Given the description of an element on the screen output the (x, y) to click on. 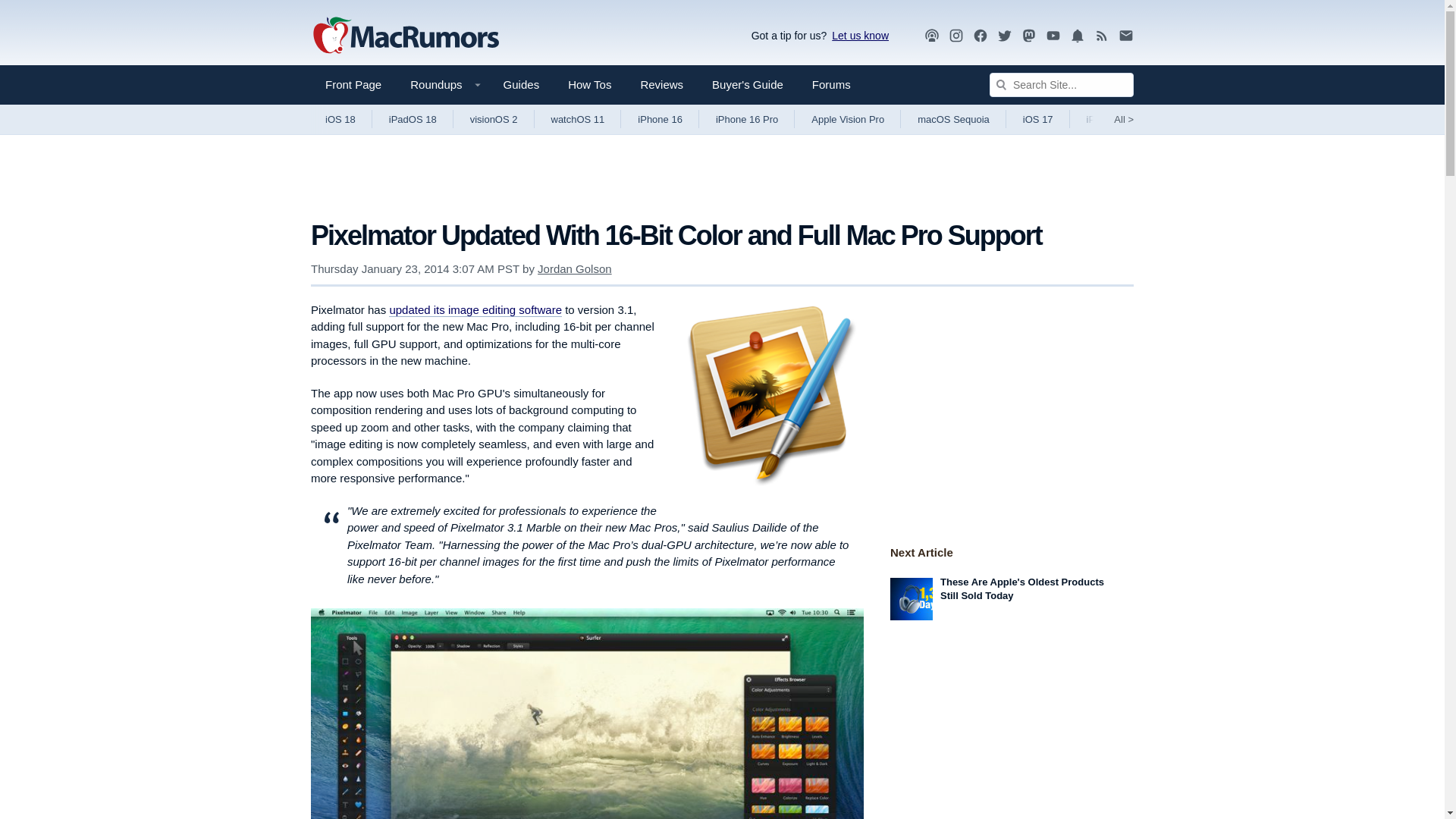
Roundups (441, 84)
Roundups (441, 84)
YouTube (1053, 35)
Instagram (956, 35)
Newsletter (1126, 35)
Instagram (956, 35)
MacRumors Push Notifications (1077, 35)
Facebook (980, 35)
MacRumors YouTube Channel (1053, 35)
MacRumors FaceBook Page (980, 35)
